Given the description of an element on the screen output the (x, y) to click on. 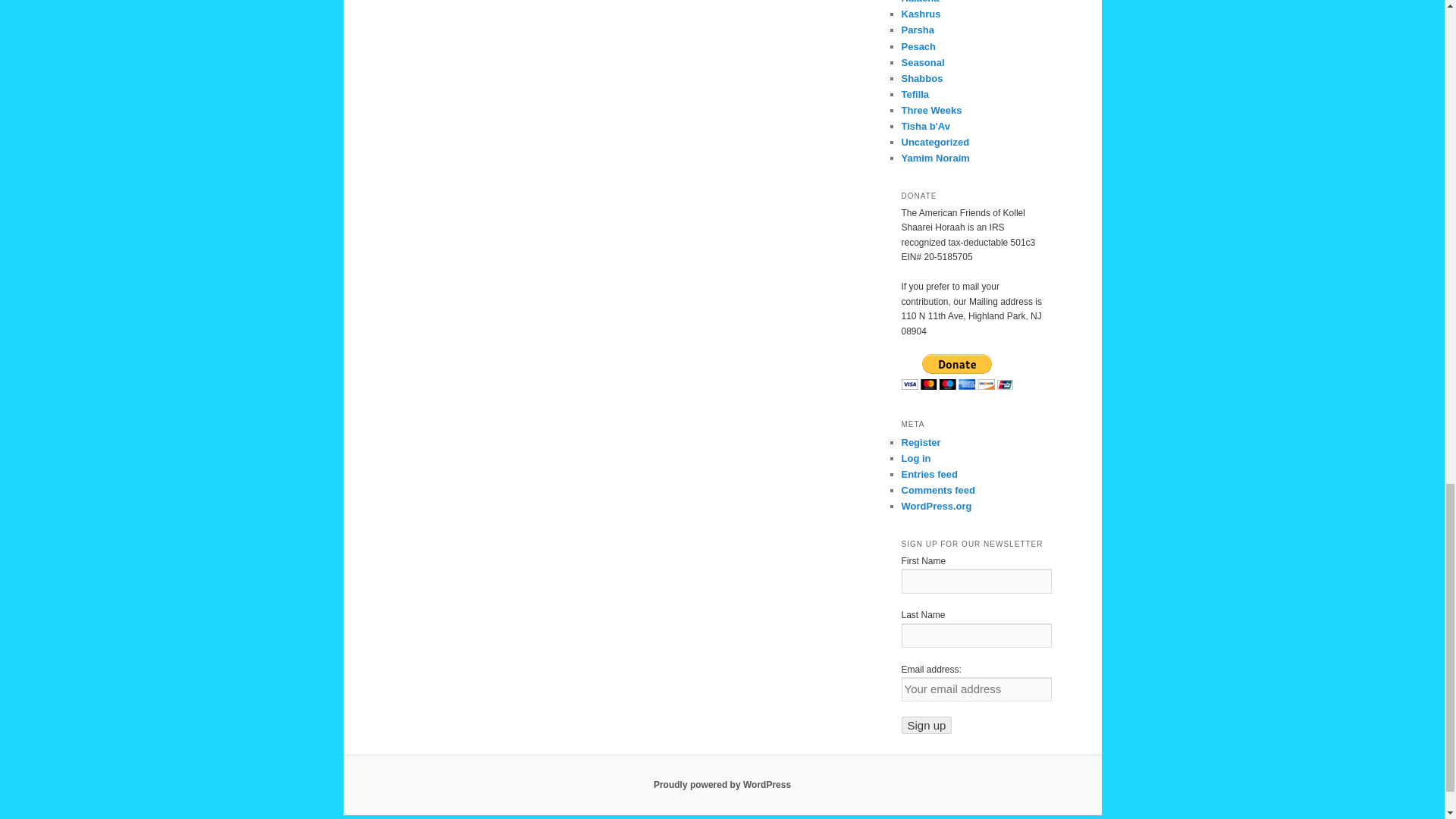
Sign up (926, 724)
Semantic Personal Publishing Platform (721, 784)
